Given the description of an element on the screen output the (x, y) to click on. 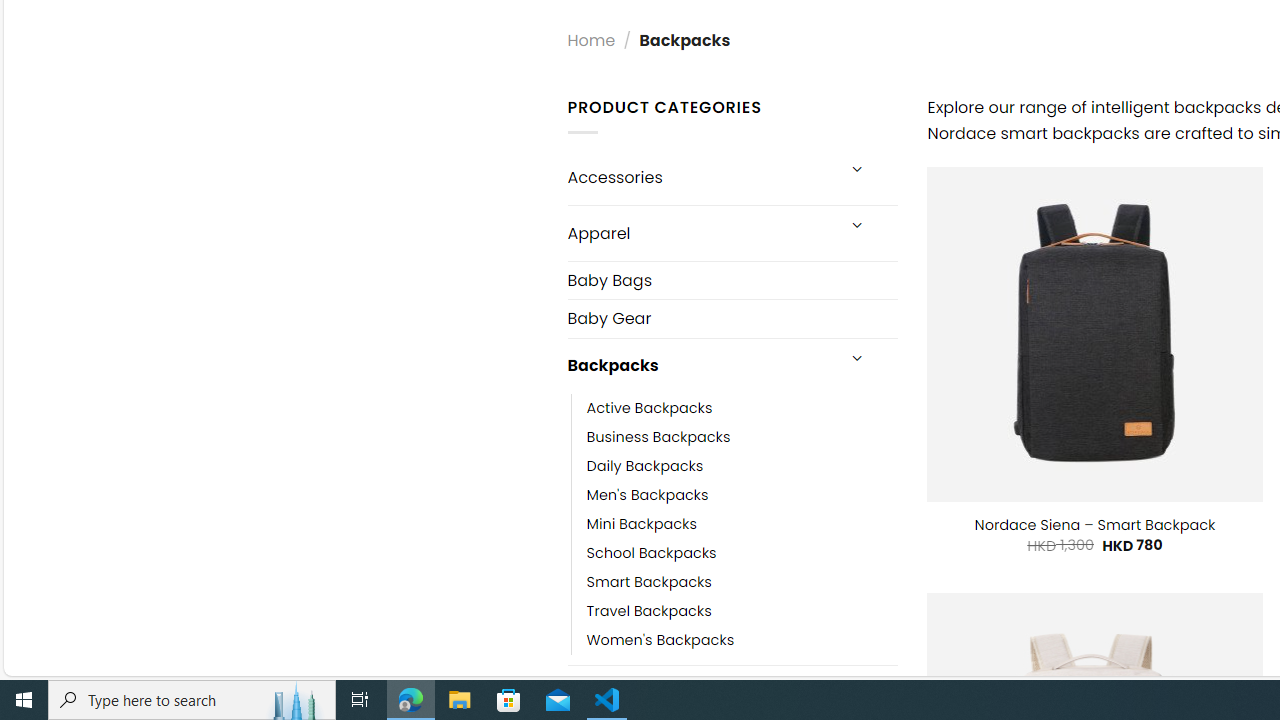
School Backpacks (742, 552)
Daily Backpacks (742, 465)
School Backpacks (651, 552)
Business Backpacks (658, 436)
Active Backpacks (742, 408)
Apparel (700, 232)
Smart Backpacks (742, 581)
Backpacks (700, 366)
Men's Backpacks (742, 494)
Business Backpacks (742, 436)
Bags (700, 692)
